Given the description of an element on the screen output the (x, y) to click on. 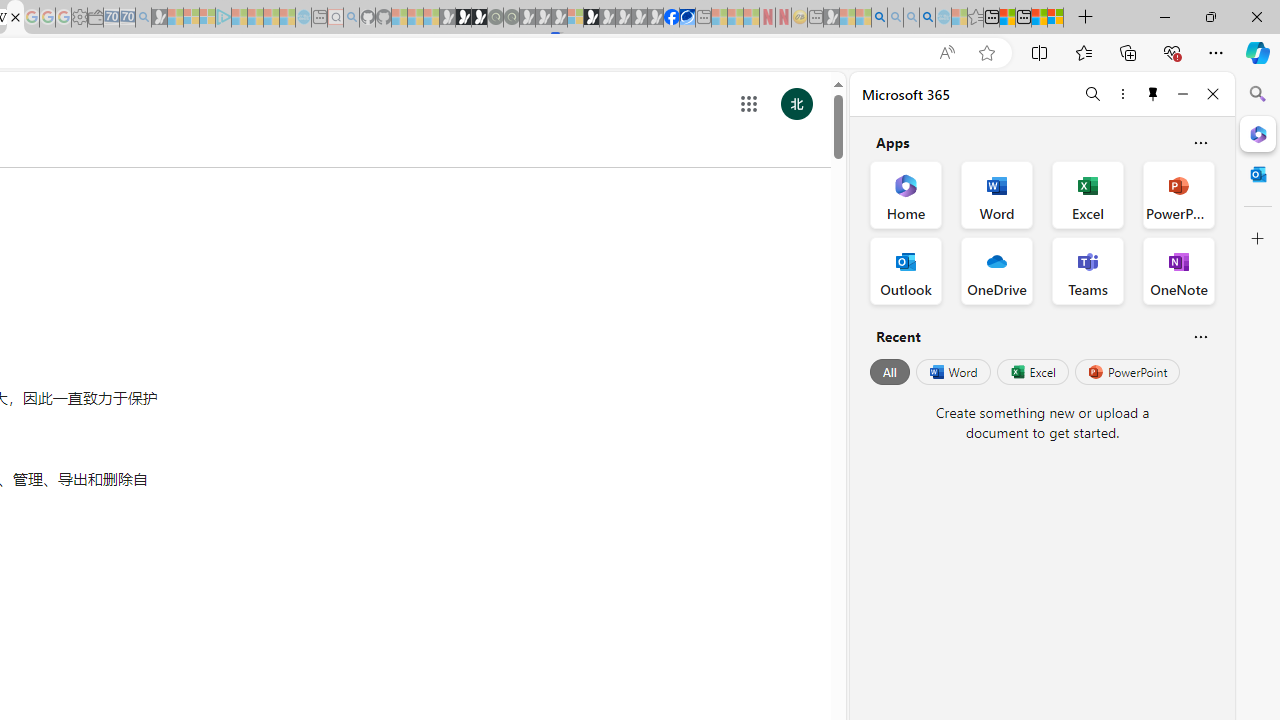
Excel Office App (1087, 194)
Excel (1031, 372)
All (890, 372)
